Given the description of an element on the screen output the (x, y) to click on. 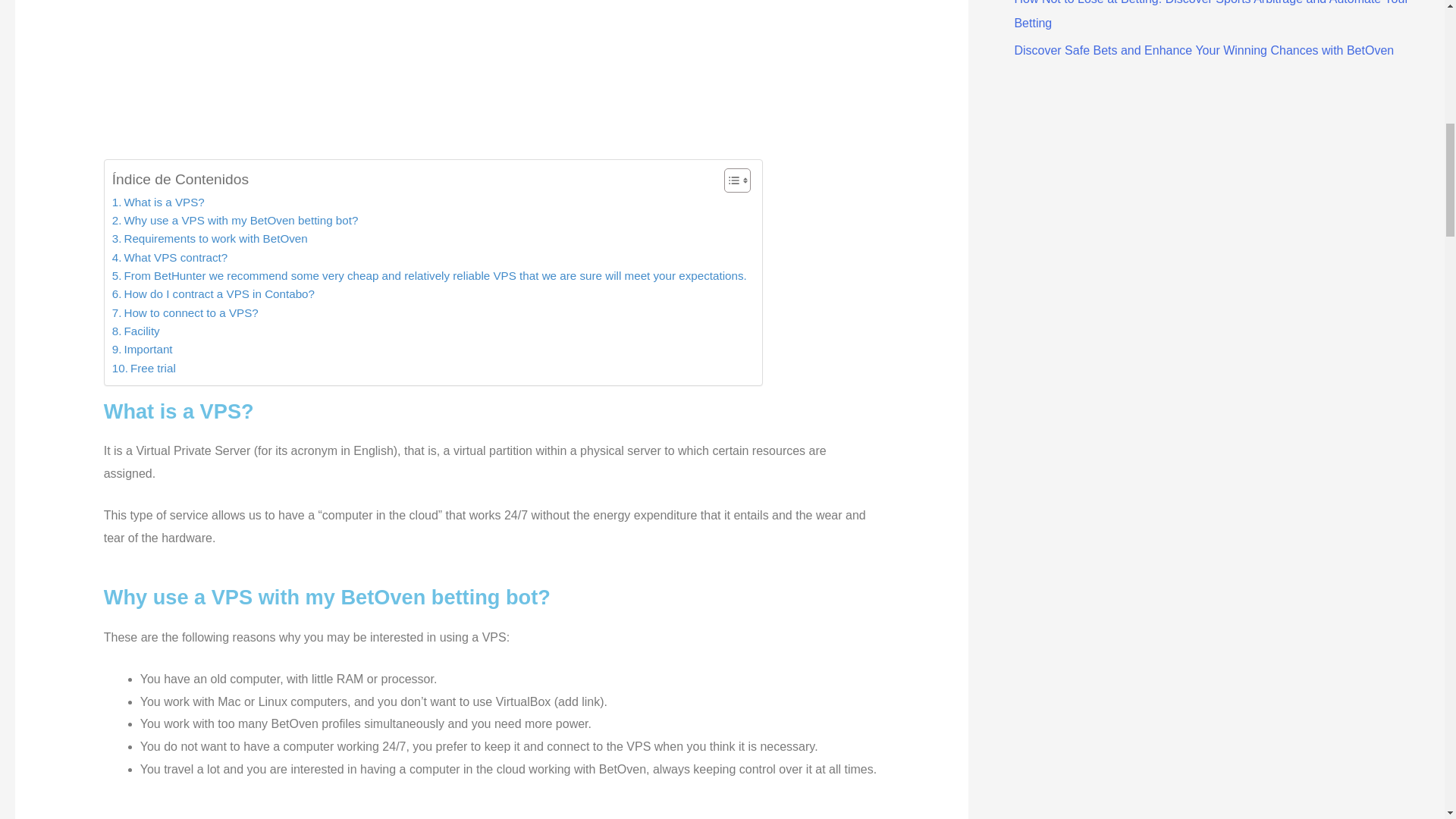
How to connect to a VPS? (185, 312)
Important (142, 349)
Facility (136, 331)
What VPS contract? (169, 257)
Why use a VPS with my BetOven betting bot? (235, 220)
Requirements to work with BetOven (209, 239)
Free trial (144, 368)
What is a VPS? (158, 202)
How do I contract a VPS in Contabo? (213, 294)
